Given the description of an element on the screen output the (x, y) to click on. 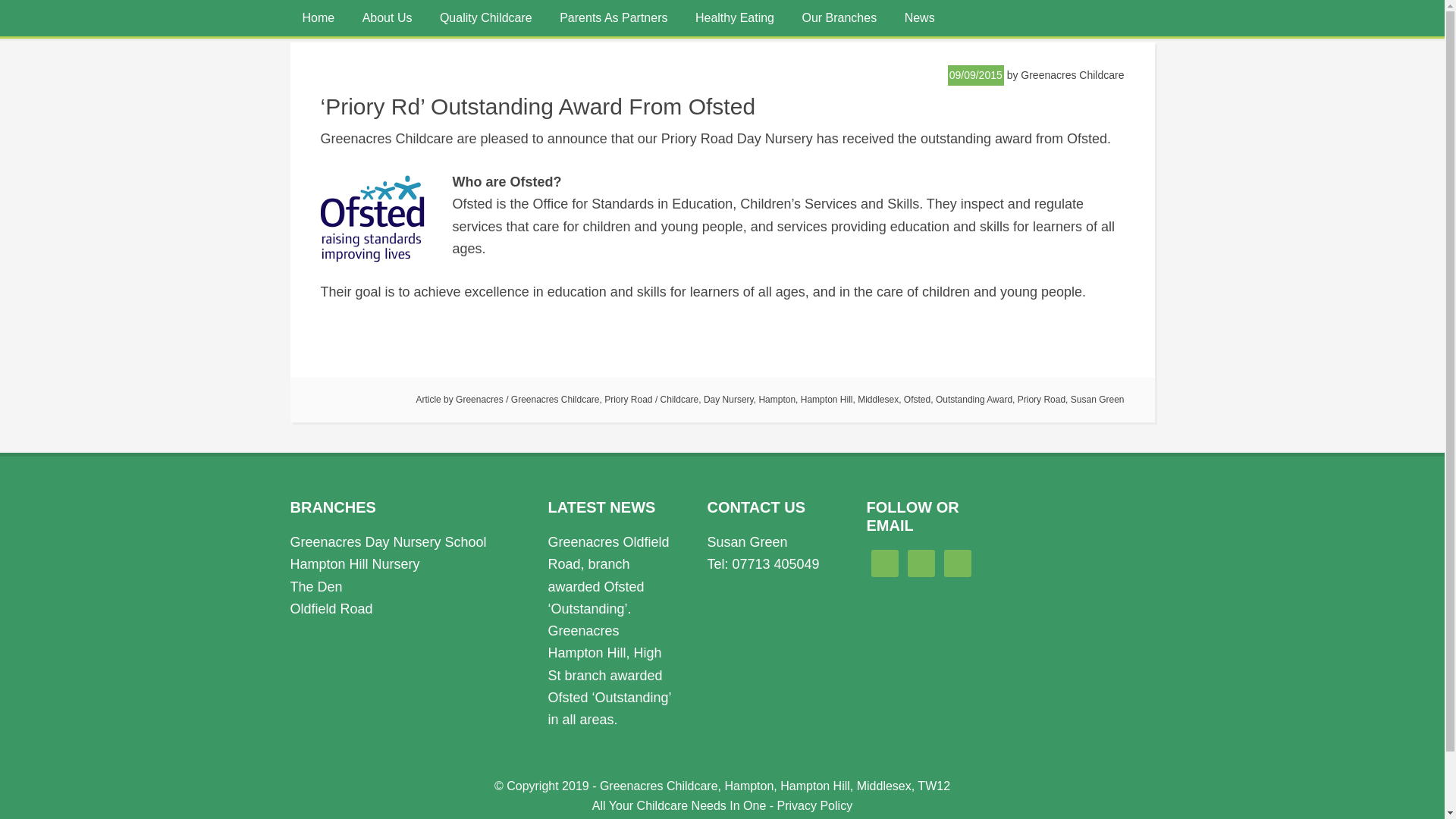
Ofsted (917, 398)
Middlesex (877, 398)
Day Nursery (728, 398)
Childcare (679, 398)
Greenacres (479, 398)
Greenacres Childcare (555, 398)
About Us (387, 18)
The Den (315, 586)
Parents As Partners (613, 18)
Priory Road (1041, 398)
Susan Green (1097, 398)
Healthy Eating (734, 18)
Quality Childcare (486, 18)
News (919, 18)
Our Branches (838, 18)
